Given the description of an element on the screen output the (x, y) to click on. 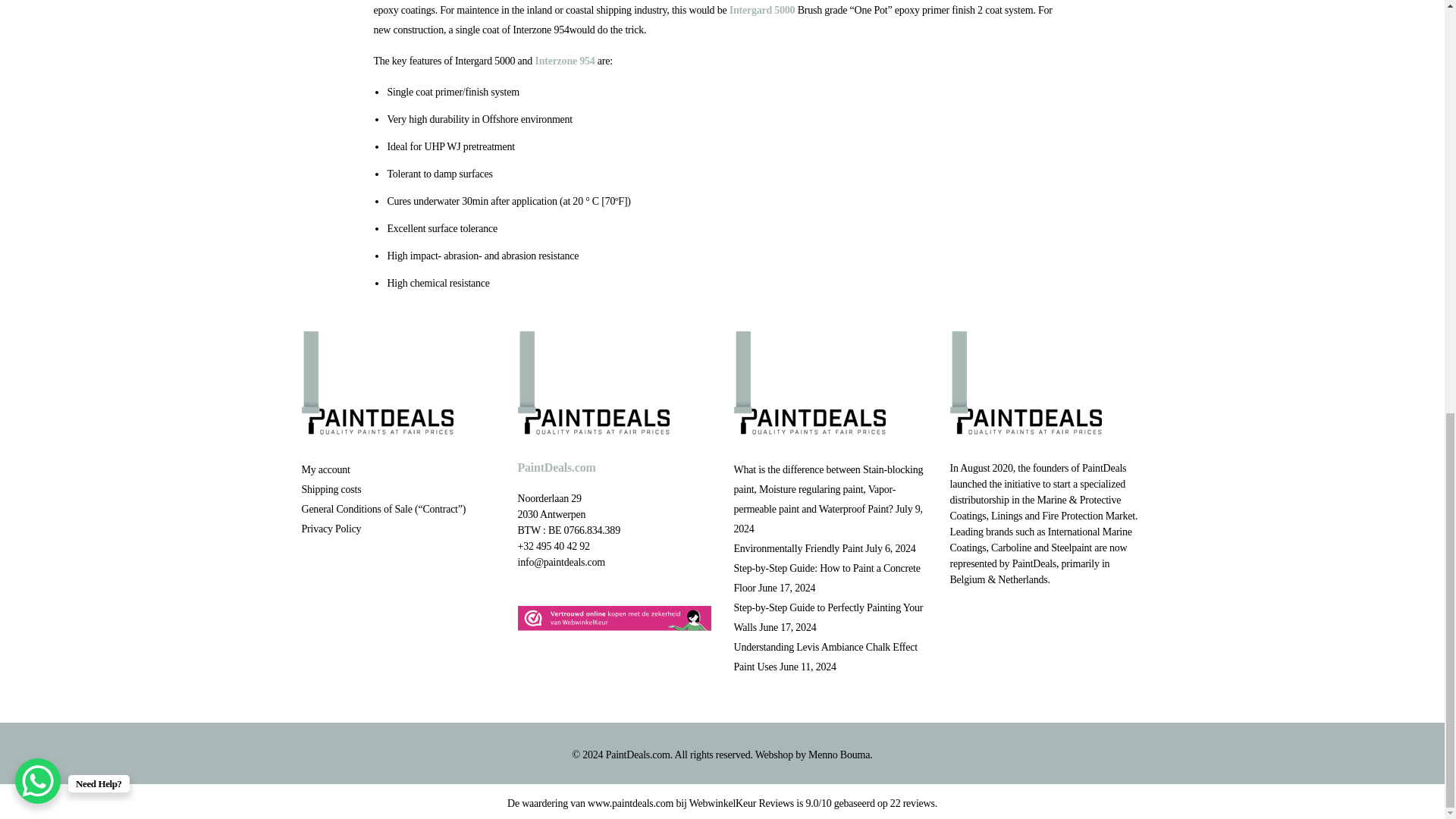
Webshop developed by Menno Bouma (838, 754)
Webwinkel Keurmerk (613, 617)
